Given the description of an element on the screen output the (x, y) to click on. 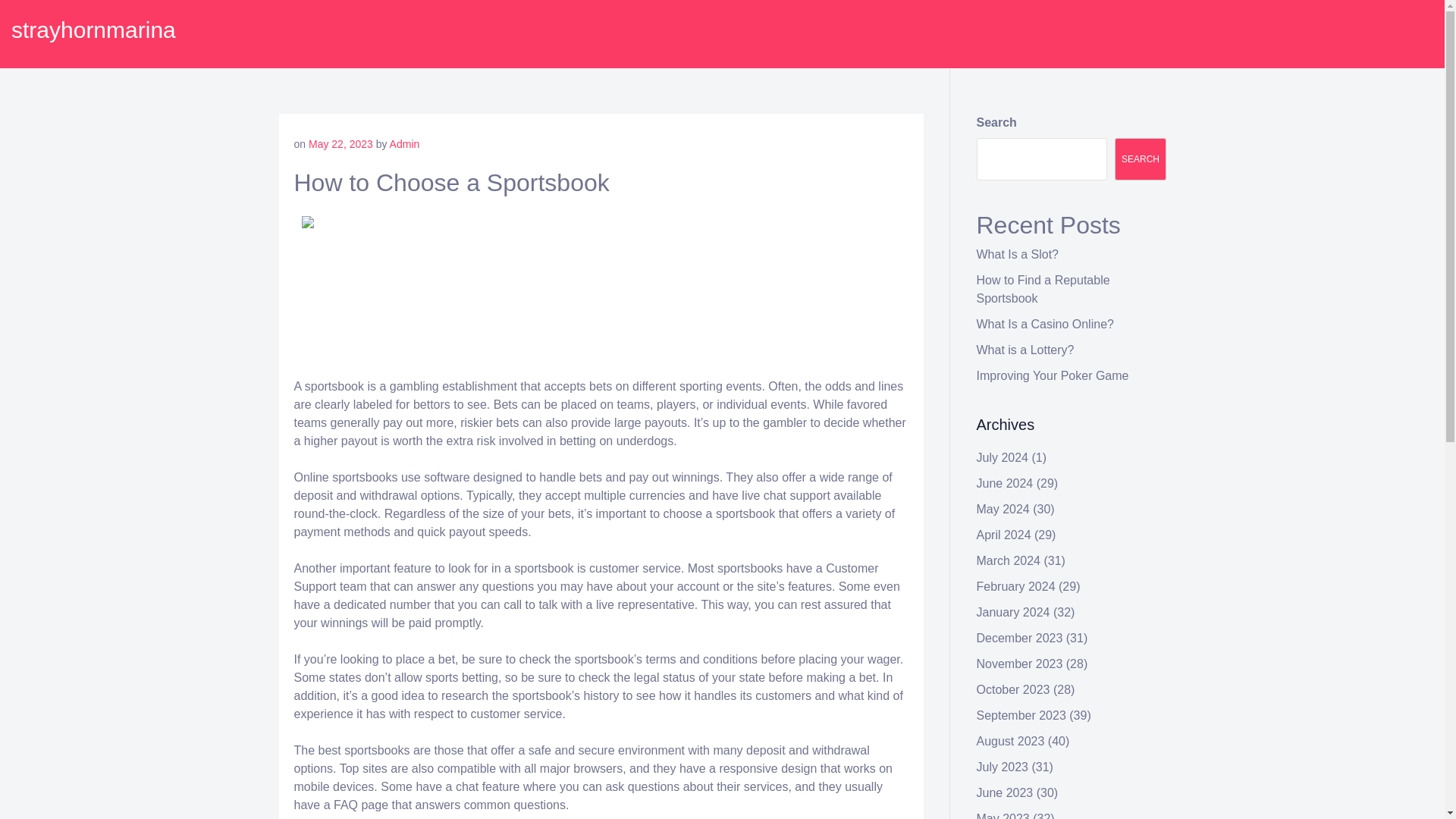
What Is a Slot? (1017, 254)
November 2023 (1019, 663)
January 2024 (1012, 612)
What is a Lottery? (1025, 349)
SEARCH (1140, 159)
February 2024 (1015, 585)
September 2023 (1020, 715)
What Is a Casino Online? (1044, 323)
March 2024 (1008, 560)
June 2024 (1004, 482)
